Given the description of an element on the screen output the (x, y) to click on. 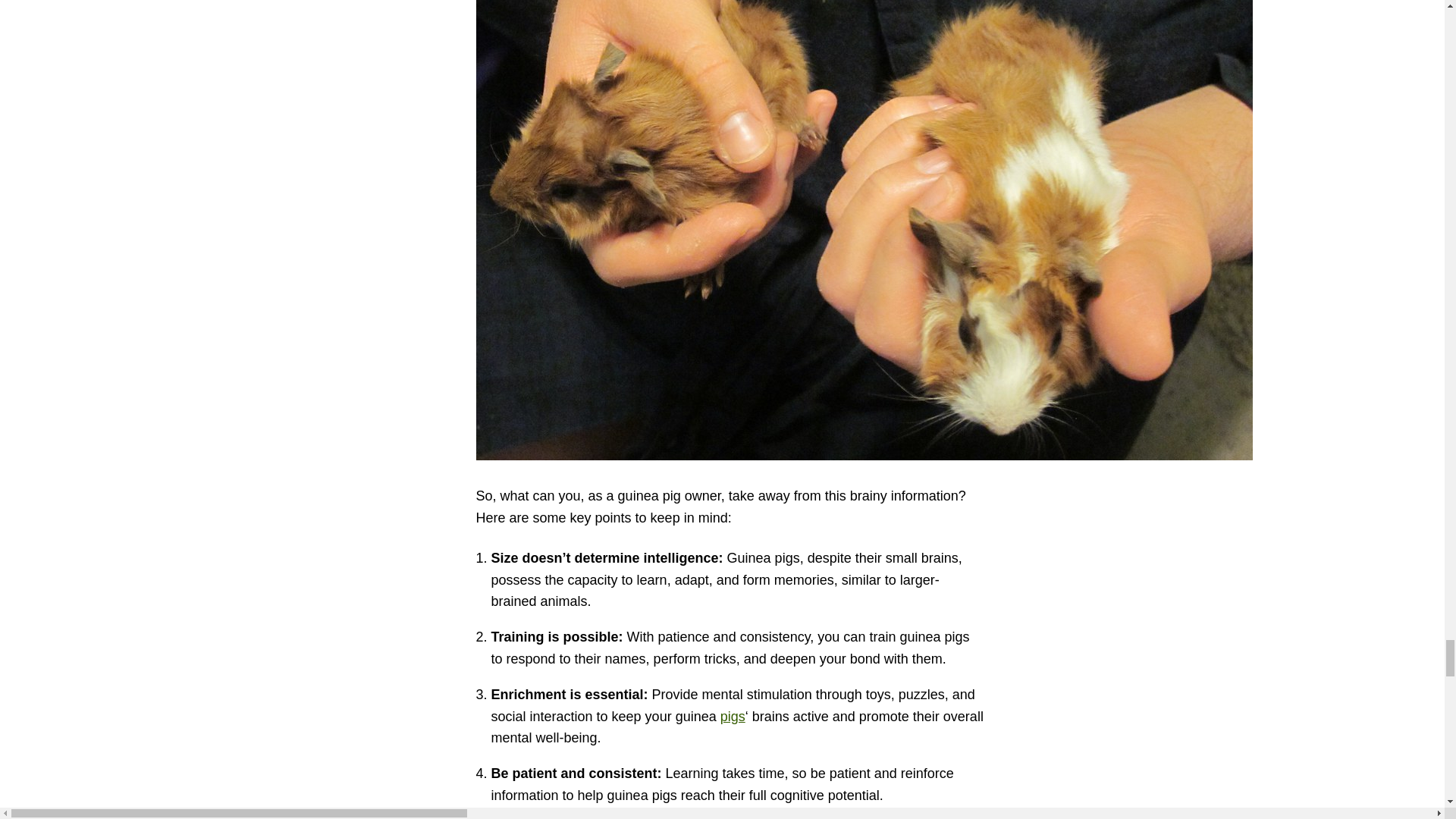
pigs (732, 716)
